Given the description of an element on the screen output the (x, y) to click on. 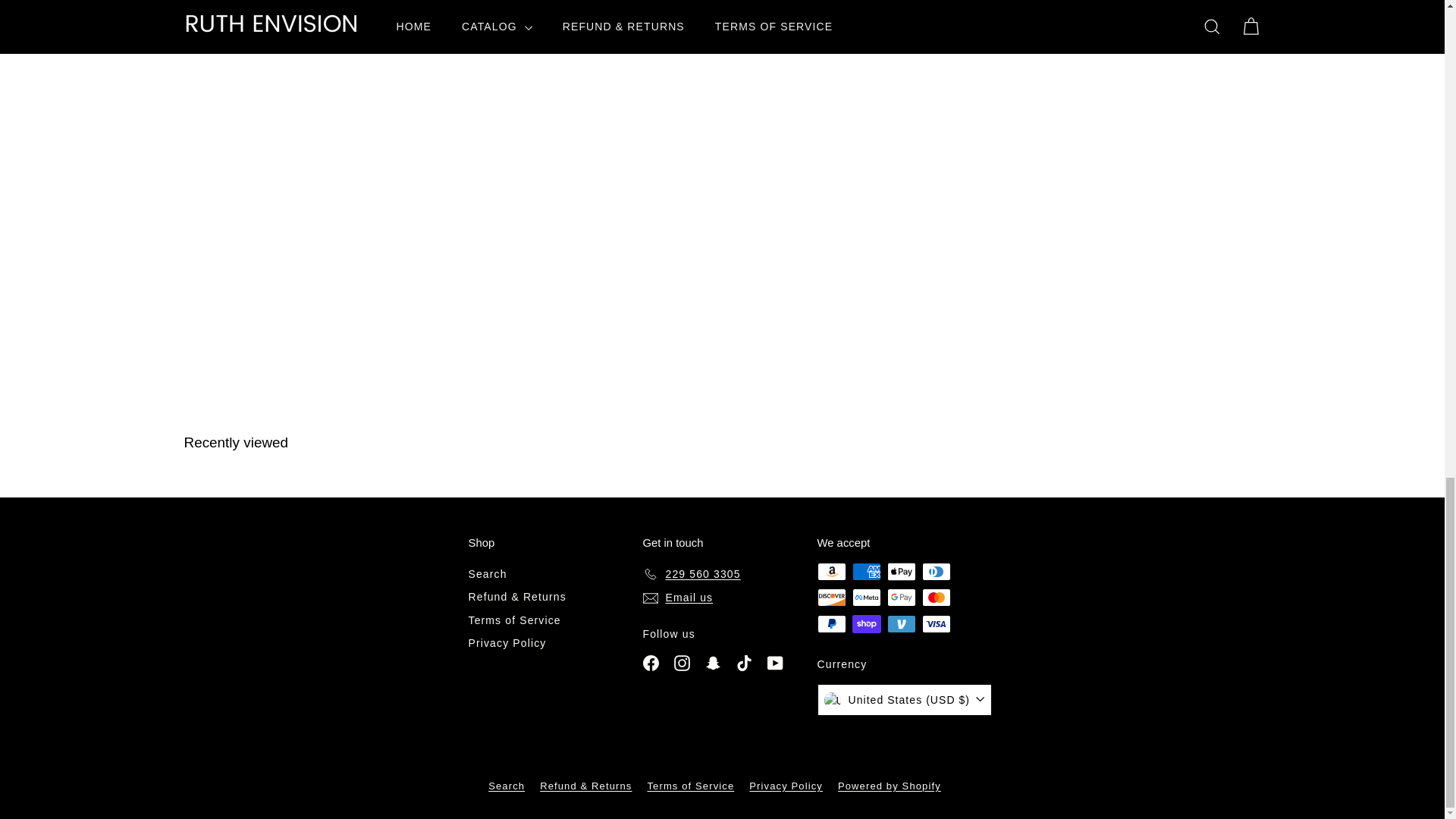
Amazon (830, 571)
Ruth Envision  on TikTok (744, 661)
Google Pay (900, 597)
Mastercard (935, 597)
American Express (865, 571)
Discover (830, 597)
Ruth Envision  on Snapchat (712, 661)
Diners Club (935, 571)
Ruth Envision  on Instagram (682, 661)
Ruth Envision  on Facebook (651, 661)
